Given the description of an element on the screen output the (x, y) to click on. 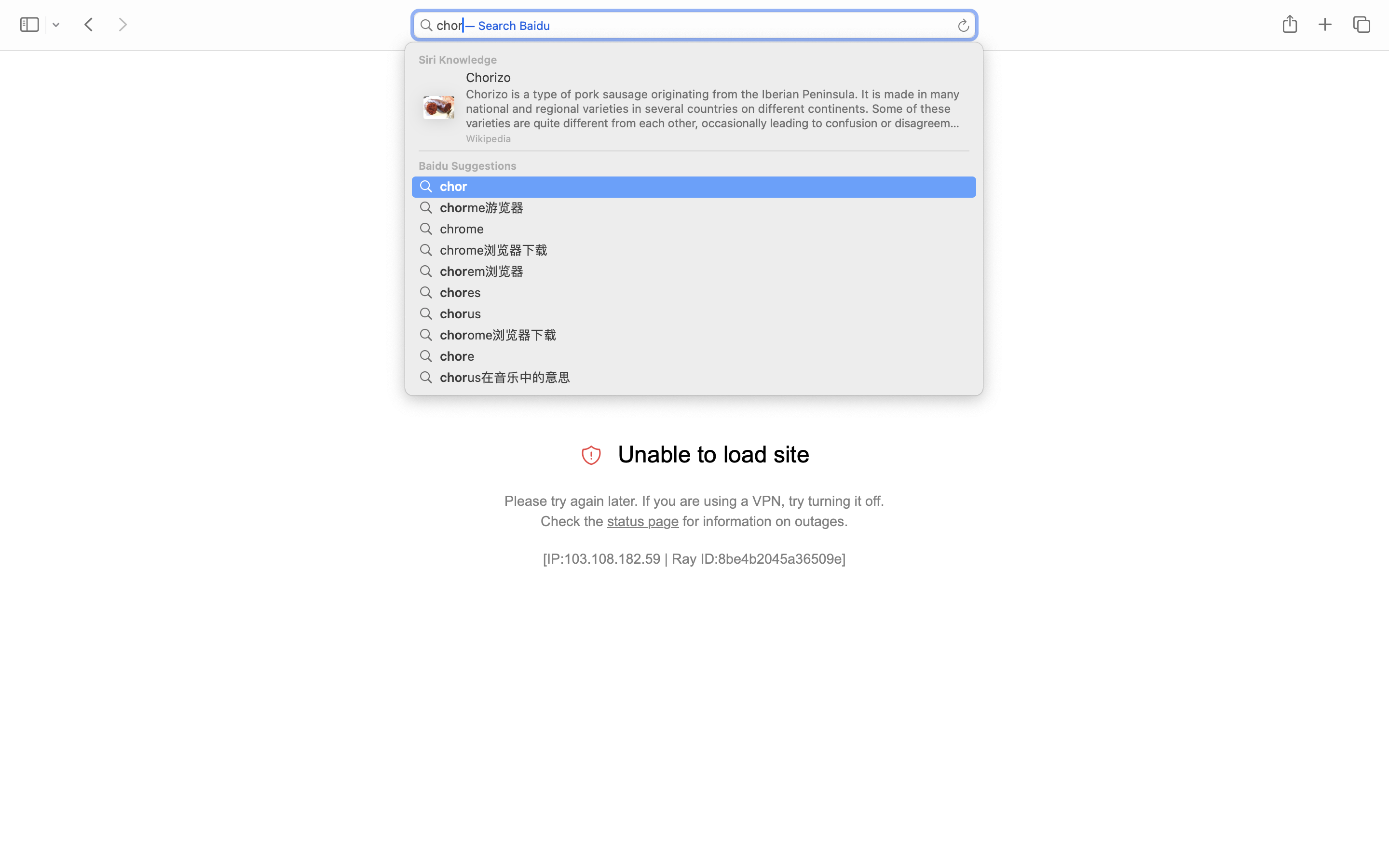
chorus Element type: AXStaticText (461, 312)
chore Element type: AXStaticText (458, 354)
Siri Knowledge Element type: AXStaticText (693, 59)
chorem浏览器 Element type: AXStaticText (482, 269)
chorus在音乐中的意思 Element type: AXStaticText (506, 375)
